Given the description of an element on the screen output the (x, y) to click on. 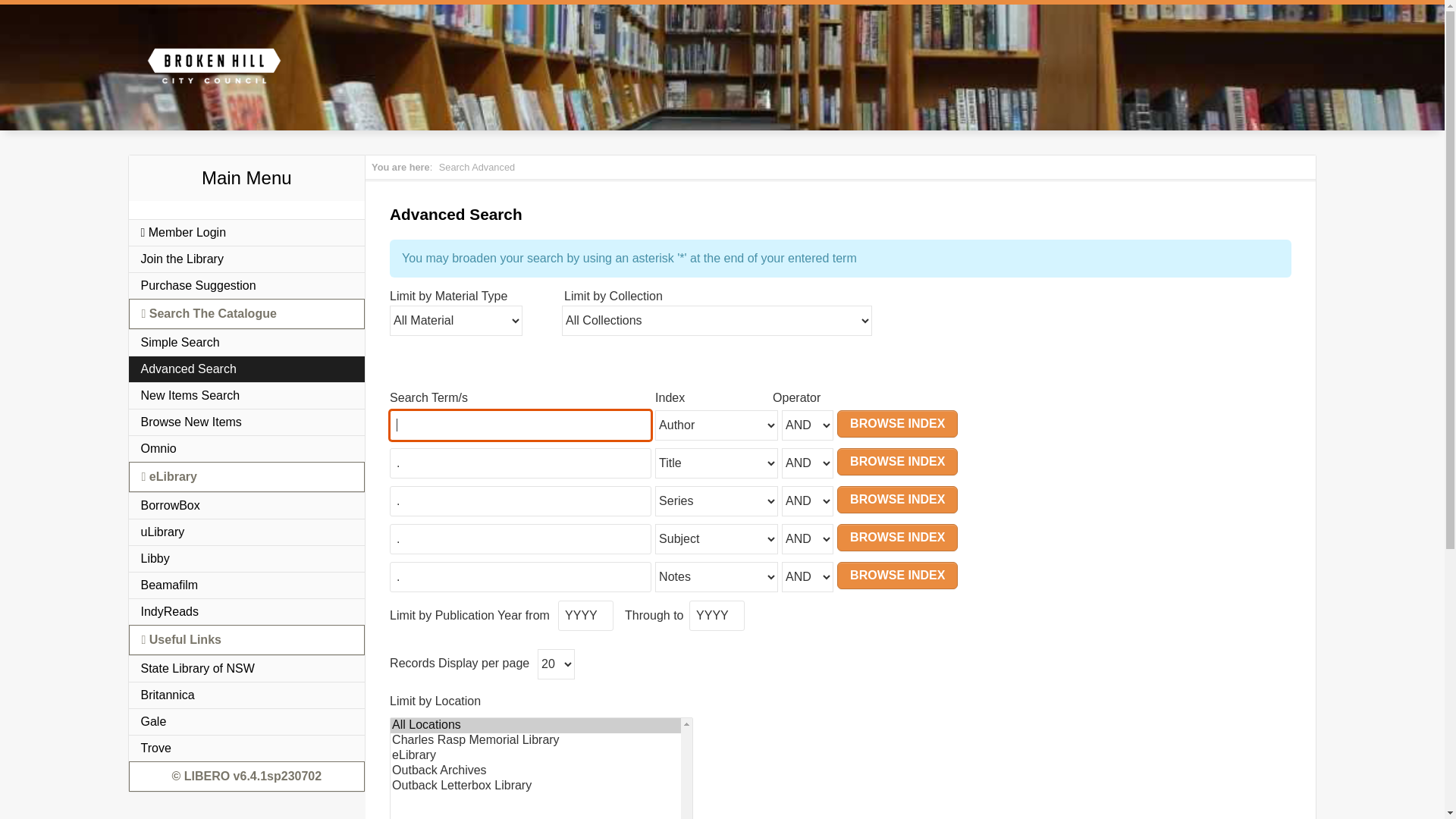
BROWSE INDEX Element type: text (897, 423)
BorrowBox Element type: text (246, 505)
BROWSE INDEX Element type: text (897, 499)
Gale Element type: text (246, 721)
IndyReads Element type: text (246, 611)
Join the Library Element type: text (246, 258)
BROWSE INDEX Element type: text (897, 575)
Beamafilm Element type: text (246, 584)
BROWSE INDEX Element type: text (897, 537)
Purchase Suggestion Element type: text (246, 285)
Simple Search Element type: text (246, 342)
uLibrary Element type: text (246, 531)
Britannica Element type: text (246, 694)
Broken Hill City Council Element type: hover (213, 65)
Trove Element type: text (246, 747)
Libby Element type: text (246, 558)
Omnio Element type: text (246, 448)
State Library of NSW Element type: text (246, 668)
BROWSE INDEX Element type: text (897, 461)
Advanced Search Element type: text (246, 368)
Browse New Items Element type: text (246, 421)
New Items Search Element type: text (246, 395)
